Given the description of an element on the screen output the (x, y) to click on. 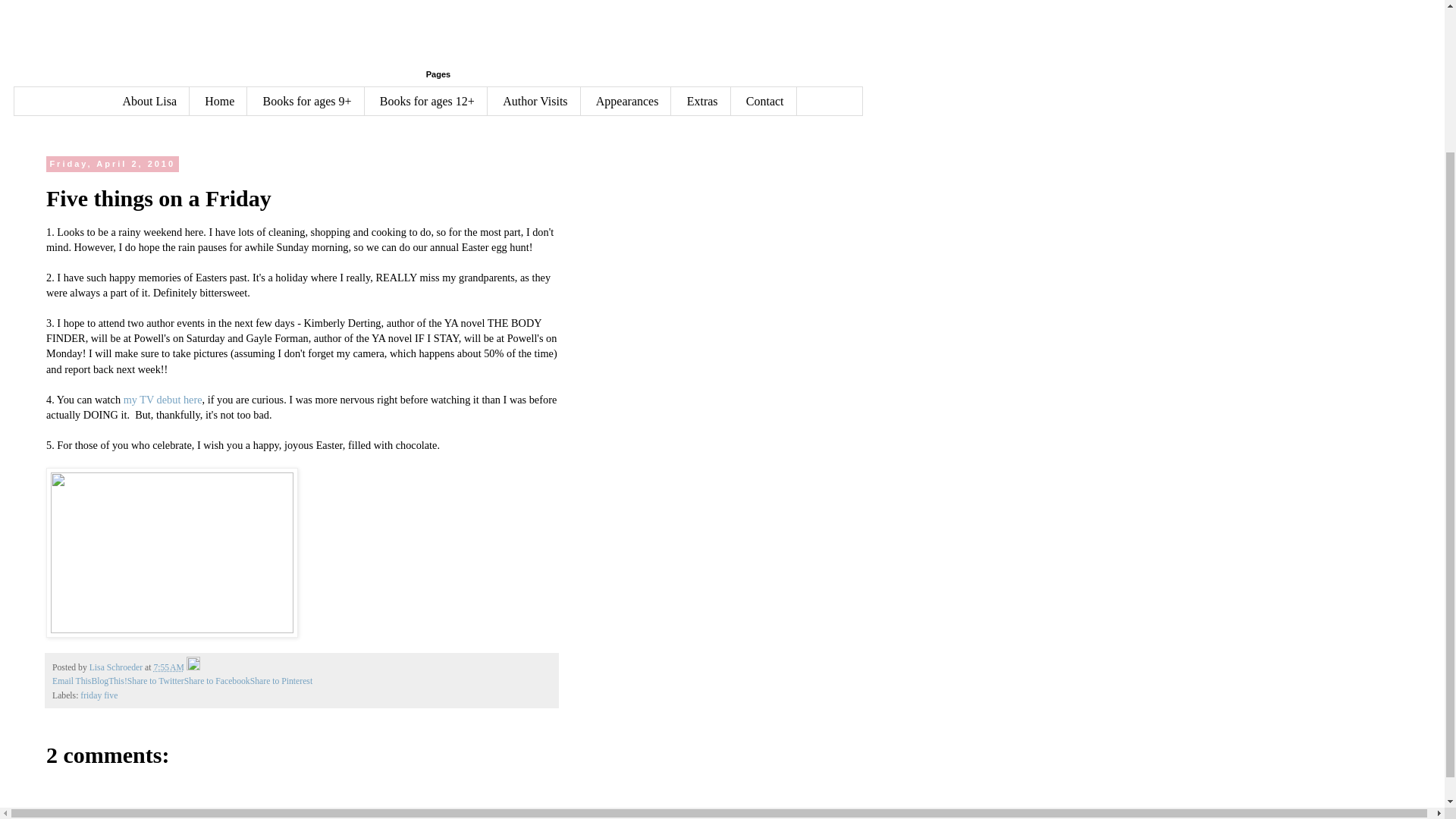
Email This (71, 681)
BlogThis! (108, 681)
Author Visits (534, 100)
author profile (116, 667)
Email This (71, 681)
Contact (764, 100)
permanent link (167, 667)
my TV debut here (162, 399)
BlogThis! (108, 681)
Share to Twitter (156, 681)
Share to Pinterest (281, 681)
Share to Twitter (156, 681)
Extras (702, 100)
Share to Facebook (217, 681)
